Given the description of an element on the screen output the (x, y) to click on. 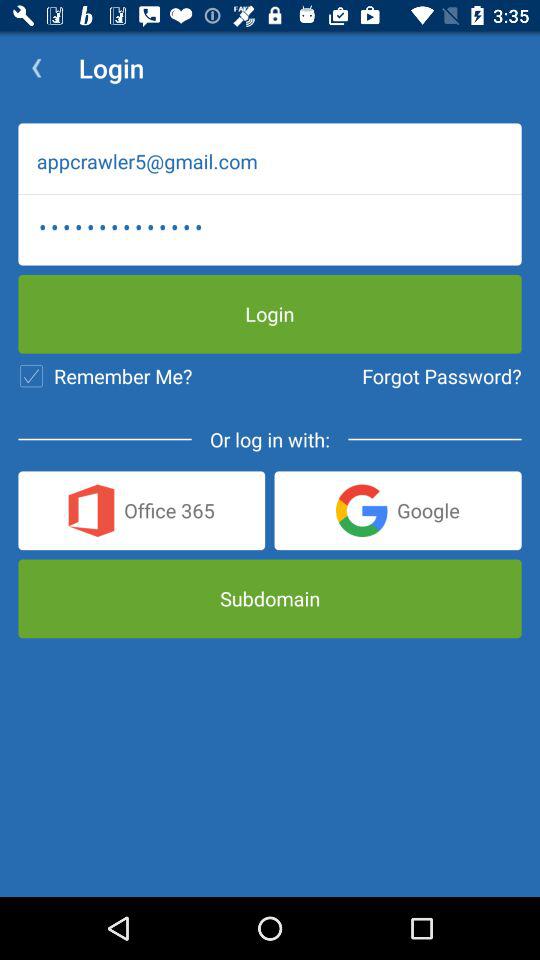
open the appcrawler5@gmail.com item (269, 161)
